Given the description of an element on the screen output the (x, y) to click on. 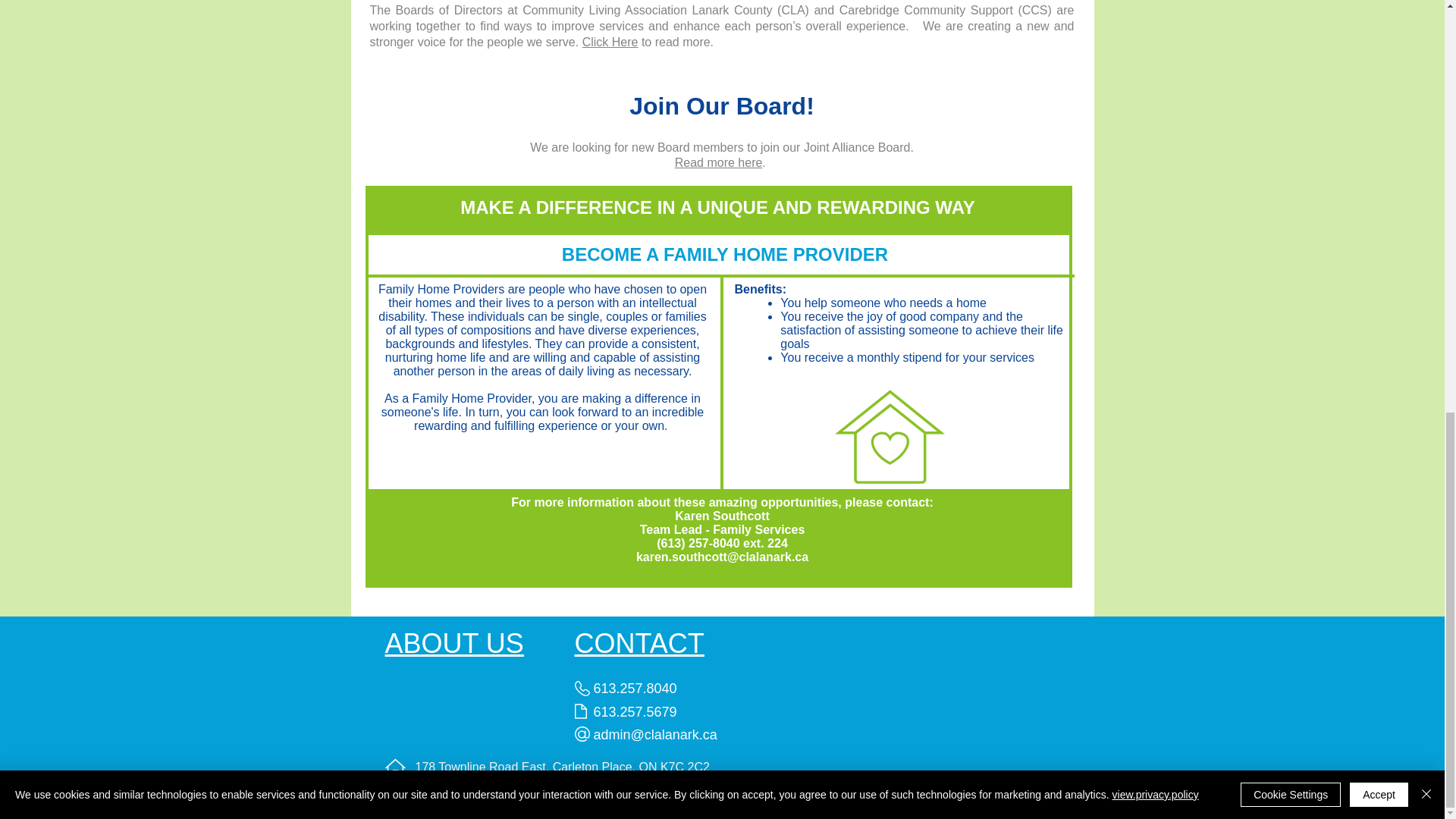
CONTACT (639, 643)
Read more here (718, 162)
ABOUT US (454, 643)
Click Here (610, 42)
